Given the description of an element on the screen output the (x, y) to click on. 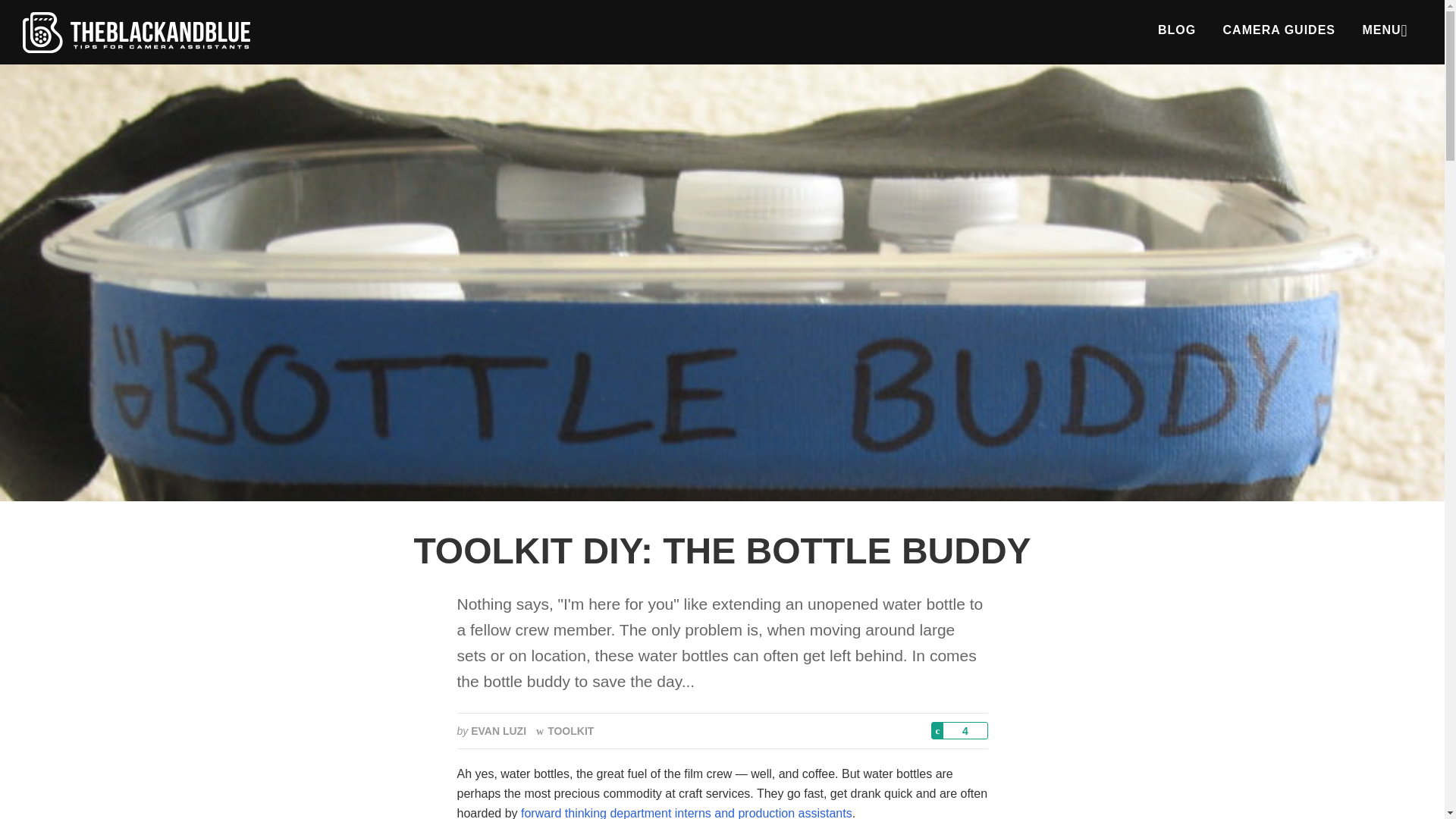
Filmmaking Articles and Blog Posts (1177, 30)
4 (959, 730)
MENU (1383, 30)
4 (959, 731)
THE BLACK AND BLUE (136, 32)
TOOLKIT (564, 730)
Digital Cinema Camera Pocket Guides (1278, 30)
CAMERA GUIDES (1278, 30)
BLOG (1177, 30)
EVAN LUZI (497, 730)
